Given the description of an element on the screen output the (x, y) to click on. 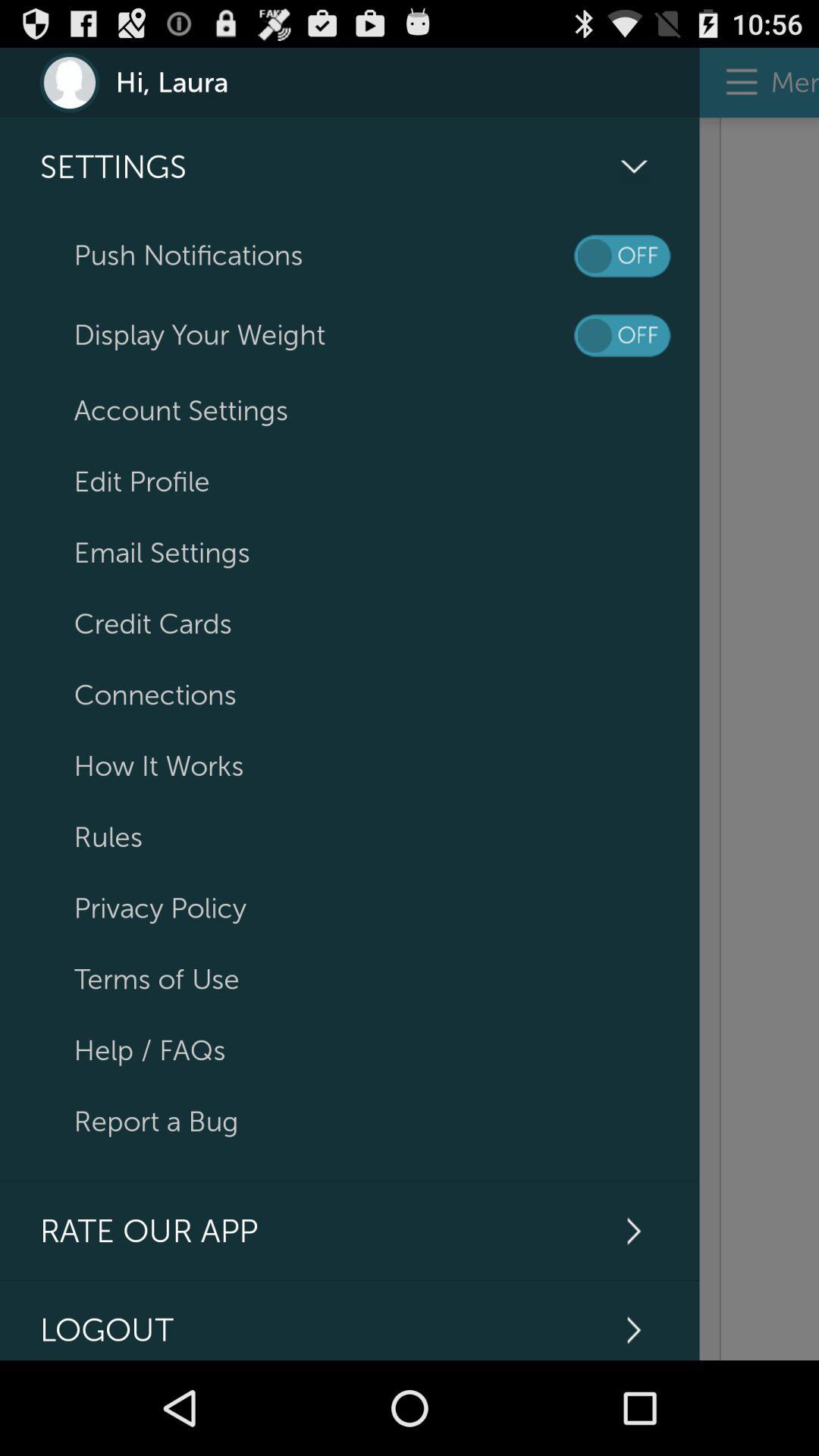
toggle on/off (622, 255)
